Given the description of an element on the screen output the (x, y) to click on. 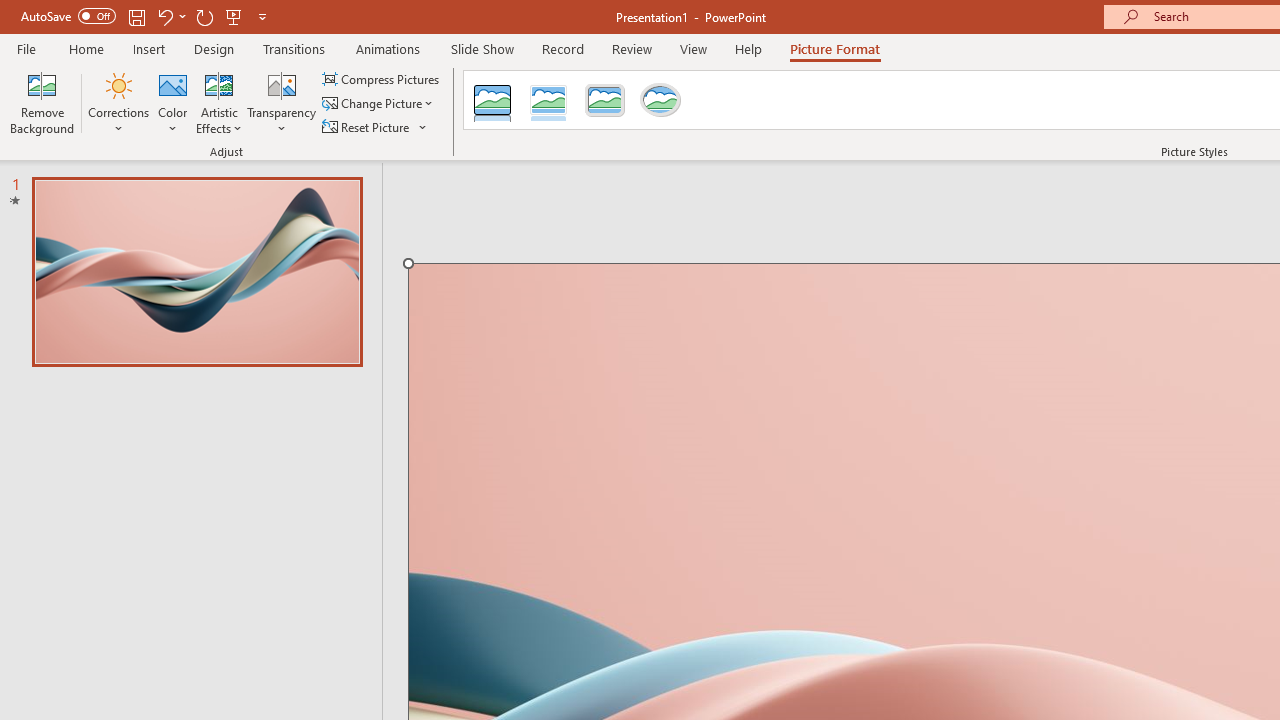
Change Picture (379, 103)
Reflected Bevel, Black (492, 100)
Artistic Effects (219, 102)
Metal Rounded Rectangle (605, 100)
Metal Oval (660, 100)
